Given the description of an element on the screen output the (x, y) to click on. 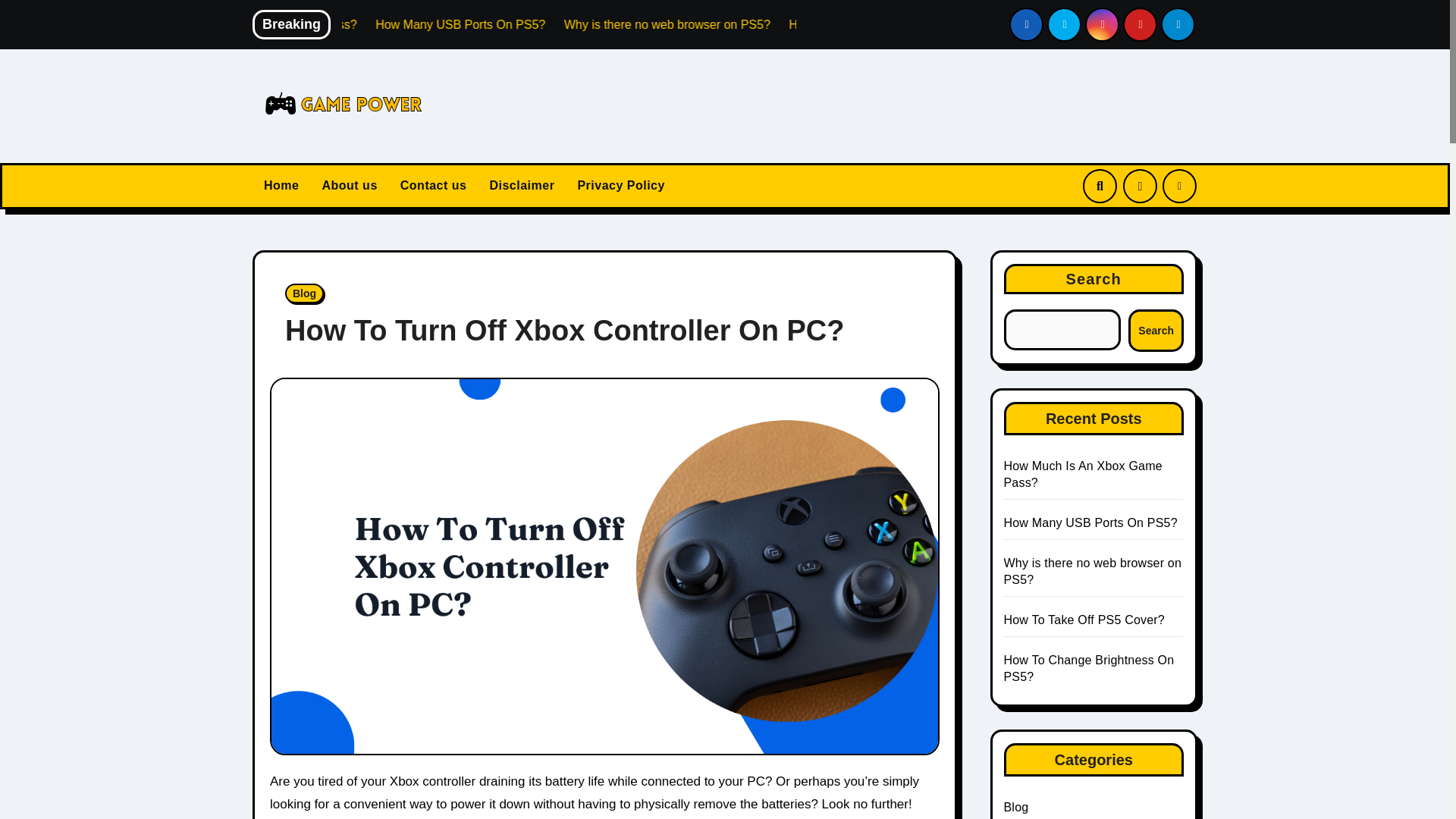
Disclaimer (521, 185)
How Many USB Ports On PS5? (631, 24)
Home (280, 185)
How To Turn Off Xbox Controller On PC? (564, 330)
Permalink to: How To Turn Off Xbox Controller On PC? (564, 330)
Privacy Policy (621, 185)
Home (280, 185)
Contact us (433, 185)
How Much Is An Xbox Game Pass? (433, 24)
About us (349, 185)
Why is there no web browser on PS5? (837, 24)
Blog (304, 293)
